Given the description of an element on the screen output the (x, y) to click on. 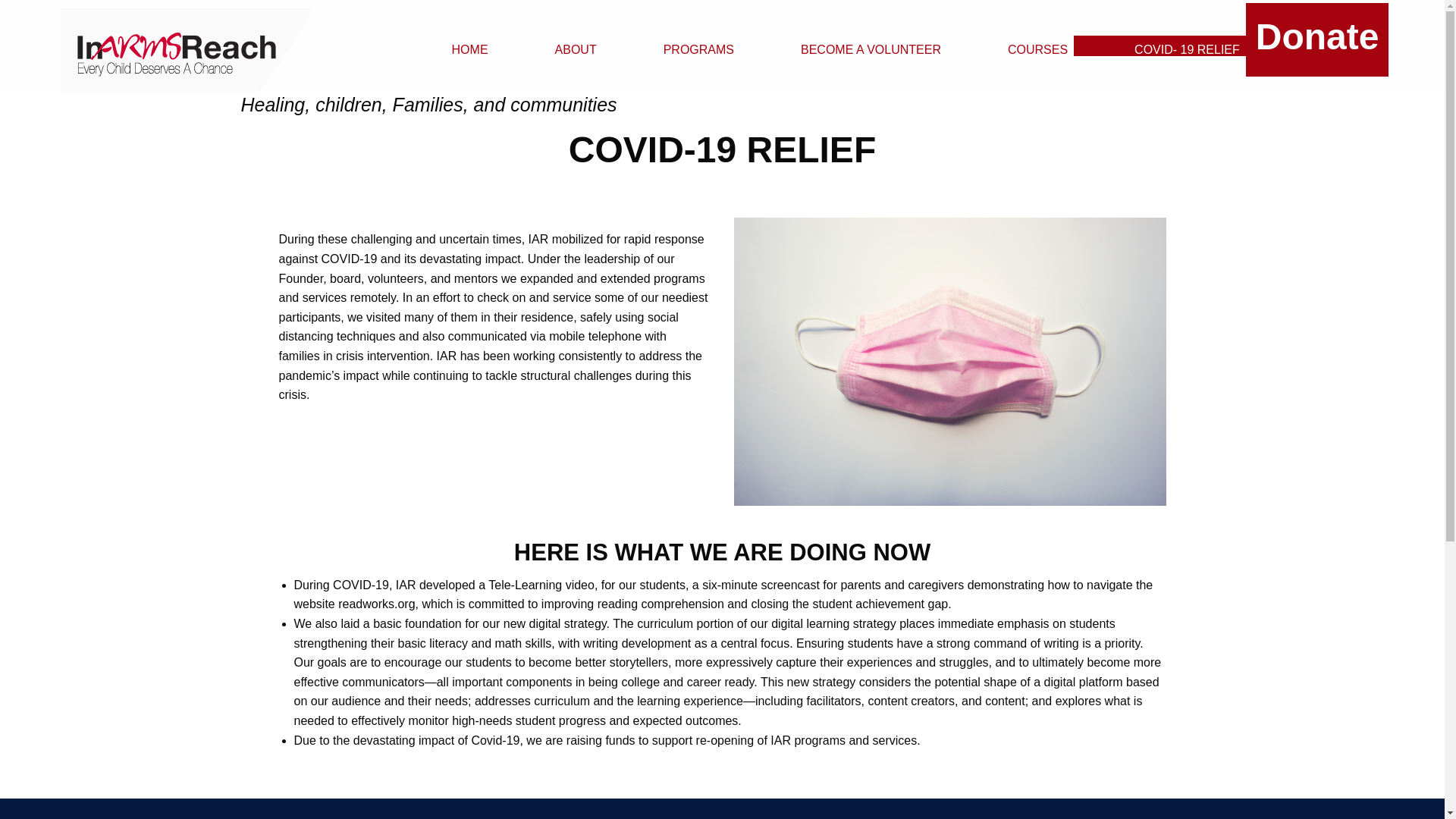
COURSES (1010, 46)
ABOUT (548, 46)
COVID- 19 RELIEF (1160, 46)
Donate (1317, 39)
PROGRAMS (670, 46)
BECOME A VOLUNTEER (843, 46)
HOME (443, 46)
